Given the description of an element on the screen output the (x, y) to click on. 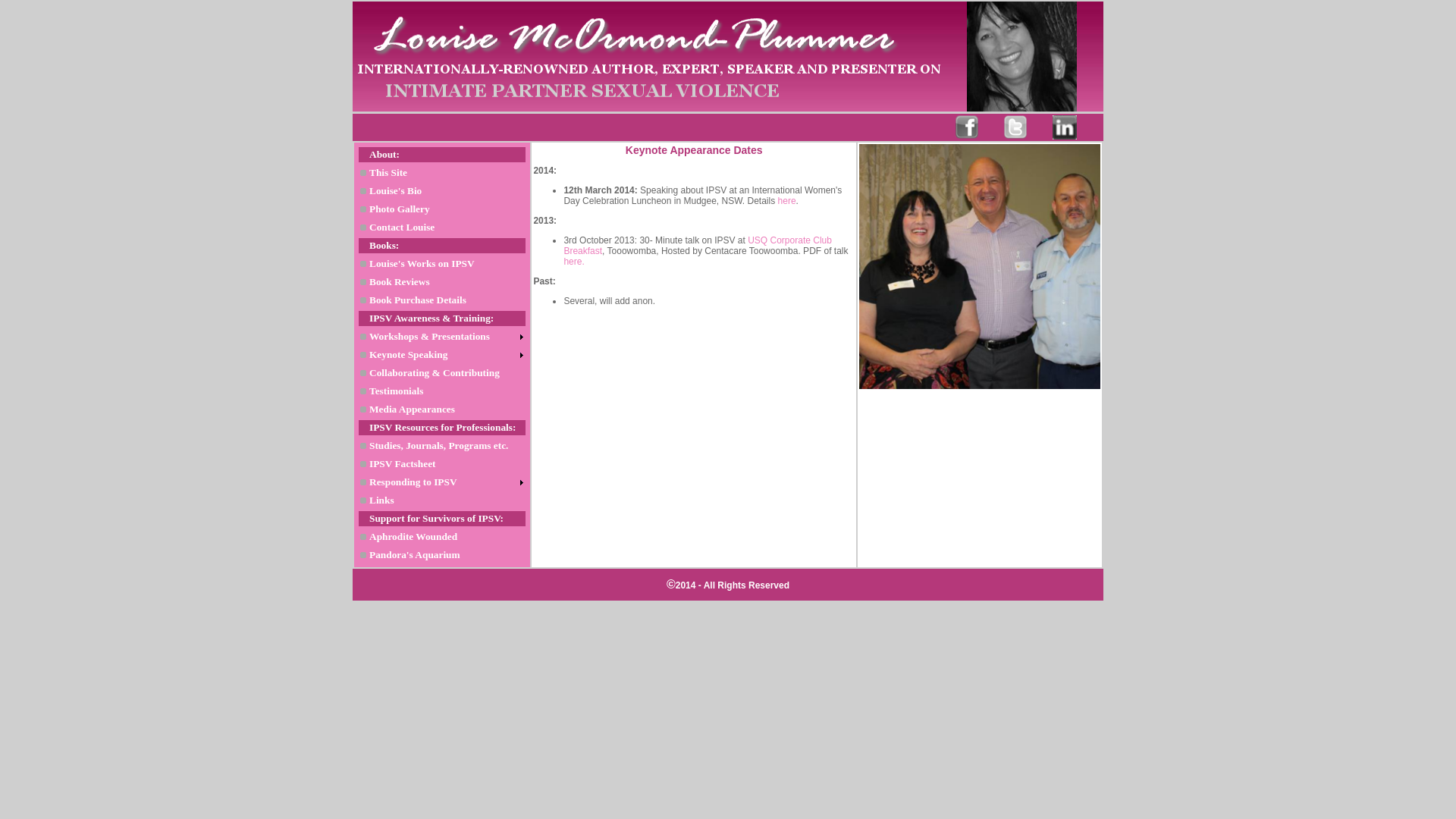
About: Element type: text (441, 154)
Book Reviews Element type: text (441, 281)
Louise's Works on IPSV Element type: text (441, 263)
Contact Louise Element type: text (441, 227)
USQ Corporate Club Breakfast Element type: text (697, 245)
Links Element type: text (441, 500)
IPSV Resources for Professionals: Element type: text (441, 427)
Media Appearances Element type: text (441, 409)
This Site Element type: text (441, 172)
here Element type: text (787, 200)
Keynote Speaking Element type: text (441, 354)
here. Element type: text (573, 261)
Studies, Journals, Programs etc. Element type: text (441, 445)
Aphrodite Wounded Element type: text (441, 536)
Photo Gallery Element type: text (441, 208)
Responding to IPSV Element type: text (441, 481)
Workshops & Presentations Element type: text (441, 336)
IPSV Awareness & Training: Element type: text (441, 318)
Louise's Bio Element type: text (441, 190)
IPSV Factsheet Element type: text (441, 463)
Testimonials Element type: text (441, 390)
Pandora's Aquarium Element type: text (441, 554)
Support for Survivors of IPSV: Element type: text (441, 518)
Book Purchase Details Element type: text (441, 299)
Collaborating & Contributing Element type: text (441, 372)
Books: Element type: text (441, 245)
